Given the description of an element on the screen output the (x, y) to click on. 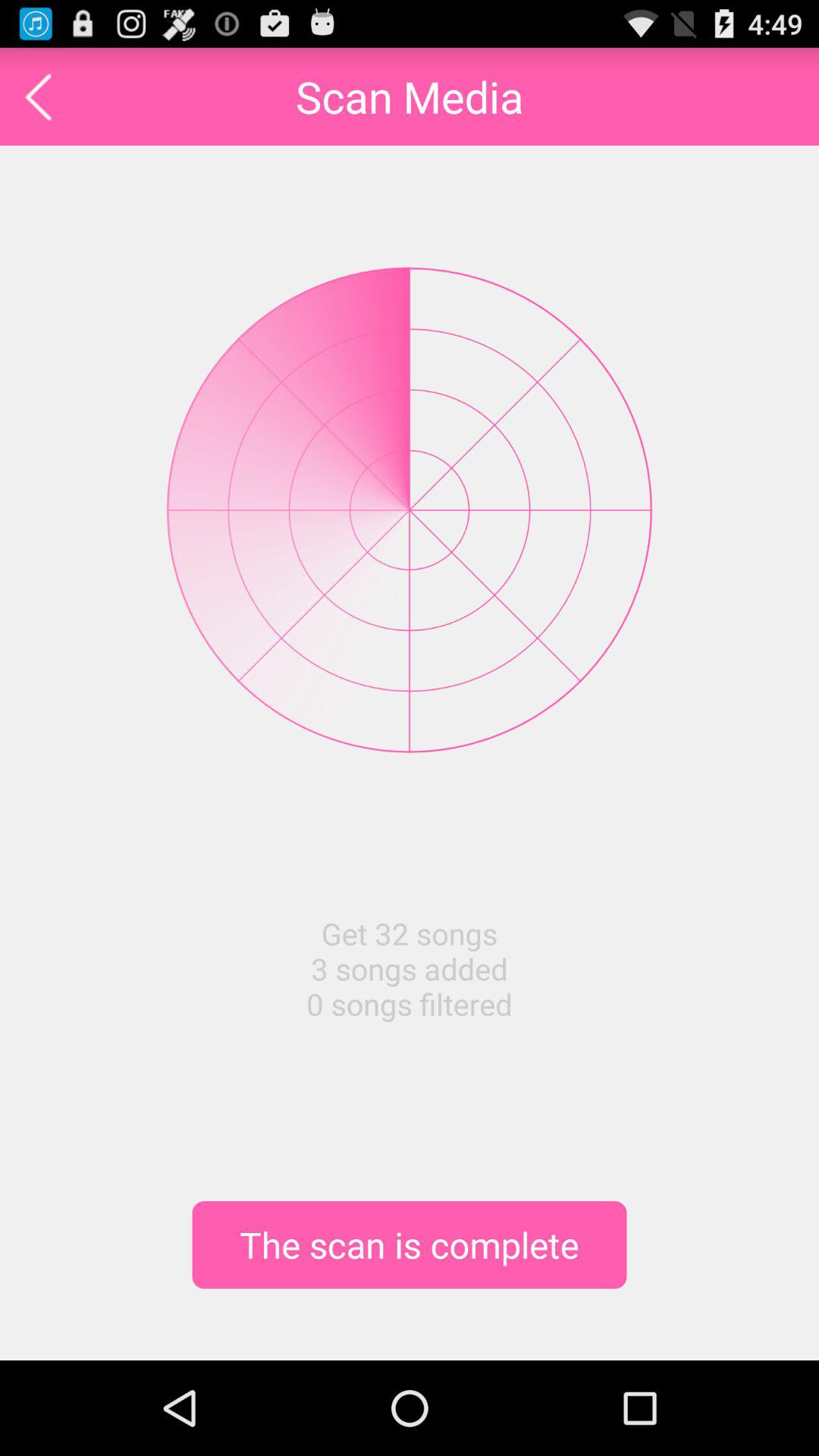
click the icon at the bottom (409, 1244)
